Given the description of an element on the screen output the (x, y) to click on. 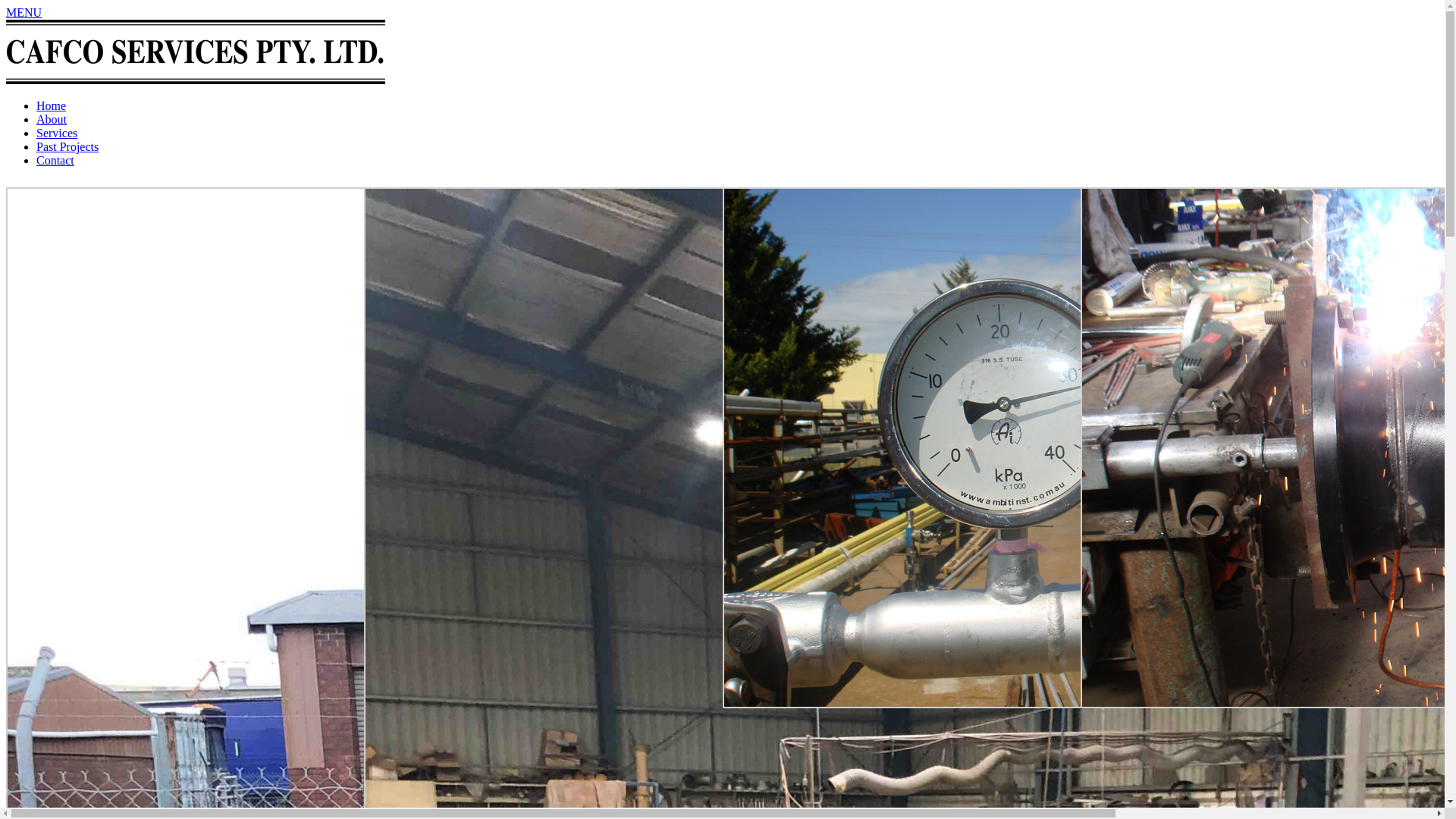
MENU Element type: text (23, 12)
Contact Element type: text (55, 159)
Past Projects Element type: text (67, 146)
About Element type: text (51, 118)
Services Element type: text (56, 132)
Home Element type: text (50, 105)
